Given the description of an element on the screen output the (x, y) to click on. 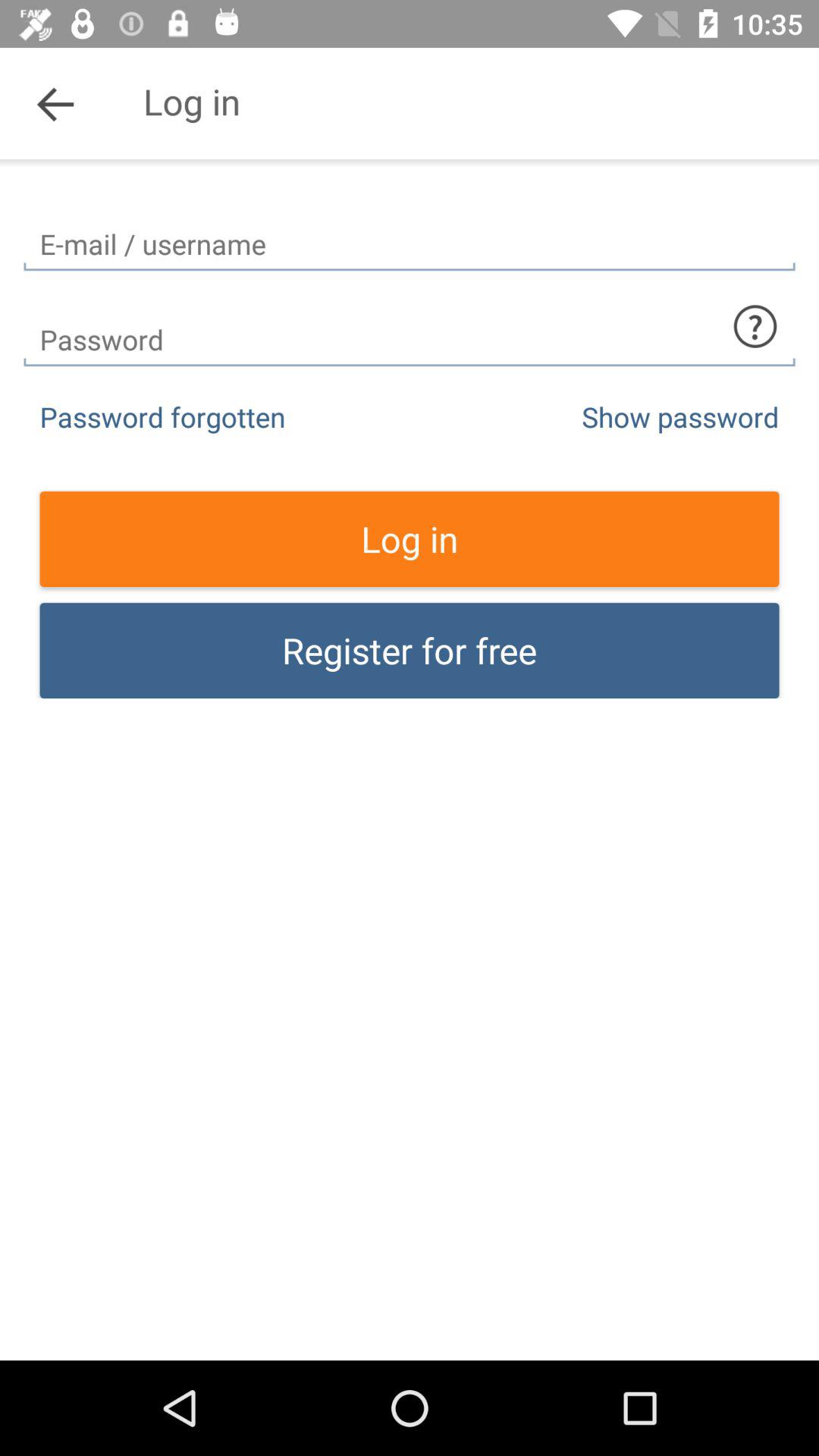
this area is a help aid (755, 326)
